Given the description of an element on the screen output the (x, y) to click on. 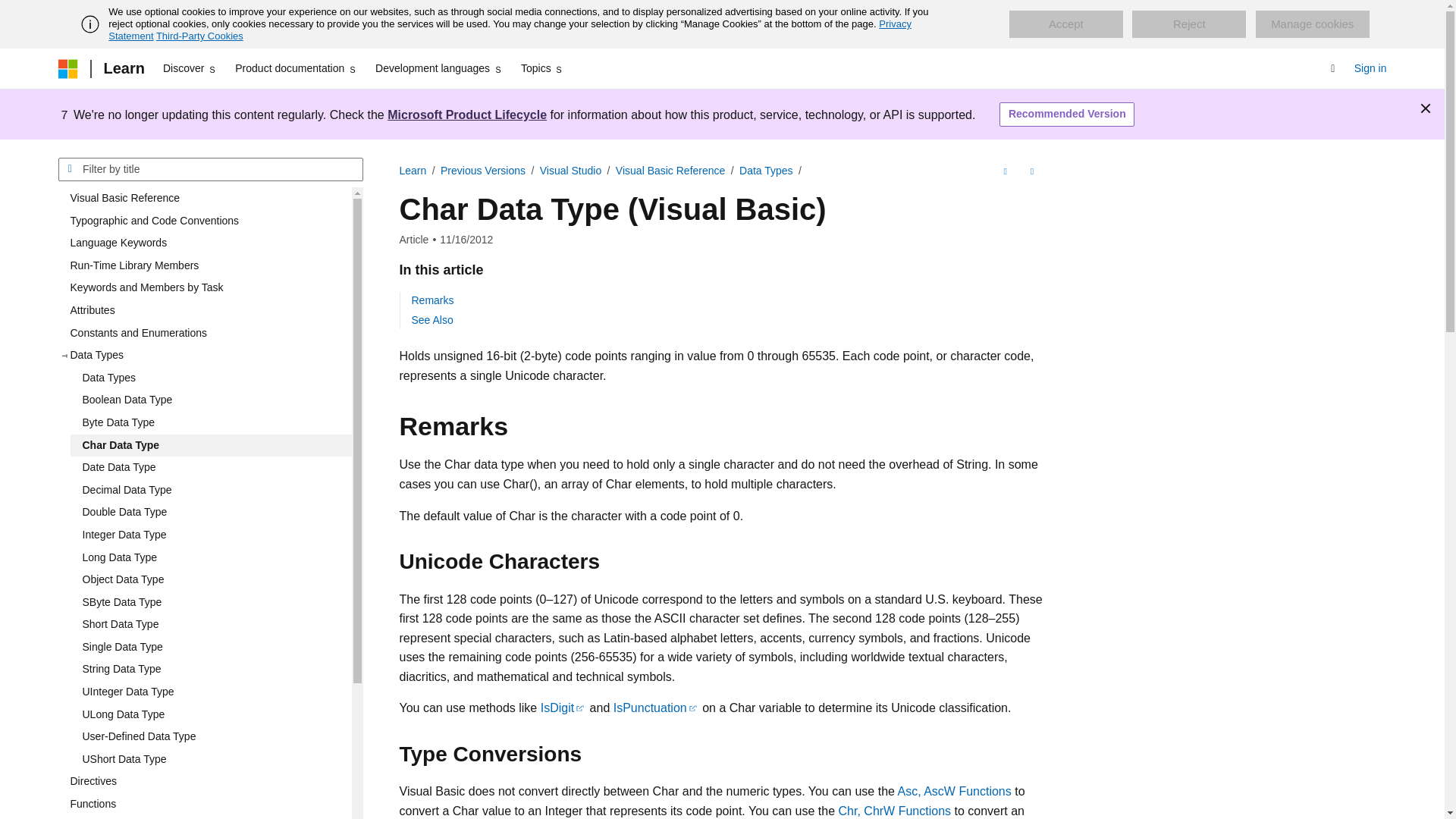
Attributes (204, 310)
Accept (1065, 23)
Language Keywords (204, 242)
Data Types (209, 377)
Visual Basic Reference (204, 198)
Product documentation (295, 68)
Recommended Version (1066, 114)
More actions (1031, 170)
Run-Time Library Members (204, 265)
Constants and Enumerations (204, 333)
